Given the description of an element on the screen output the (x, y) to click on. 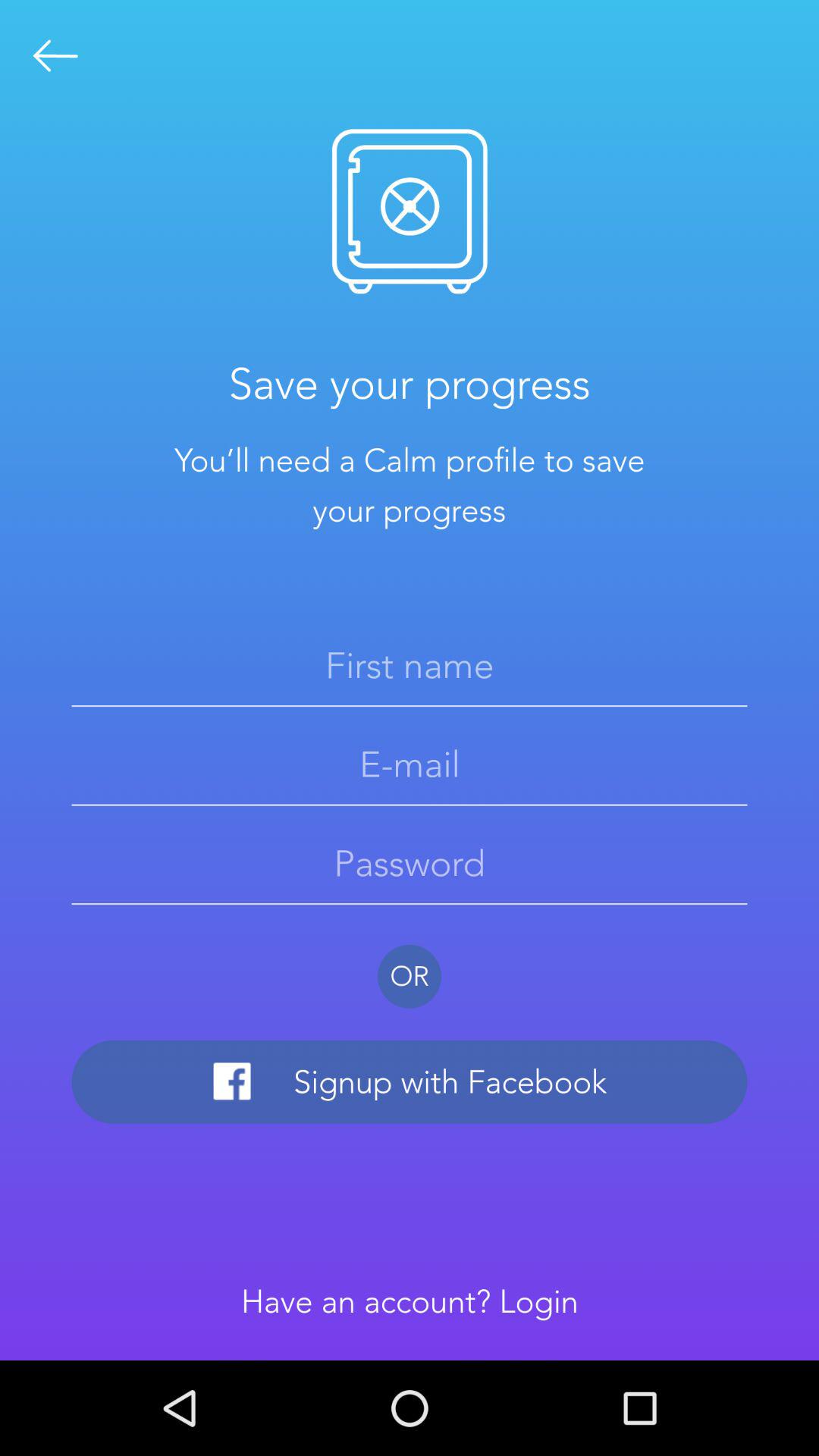
password location to protect your privacy (409, 862)
